Given the description of an element on the screen output the (x, y) to click on. 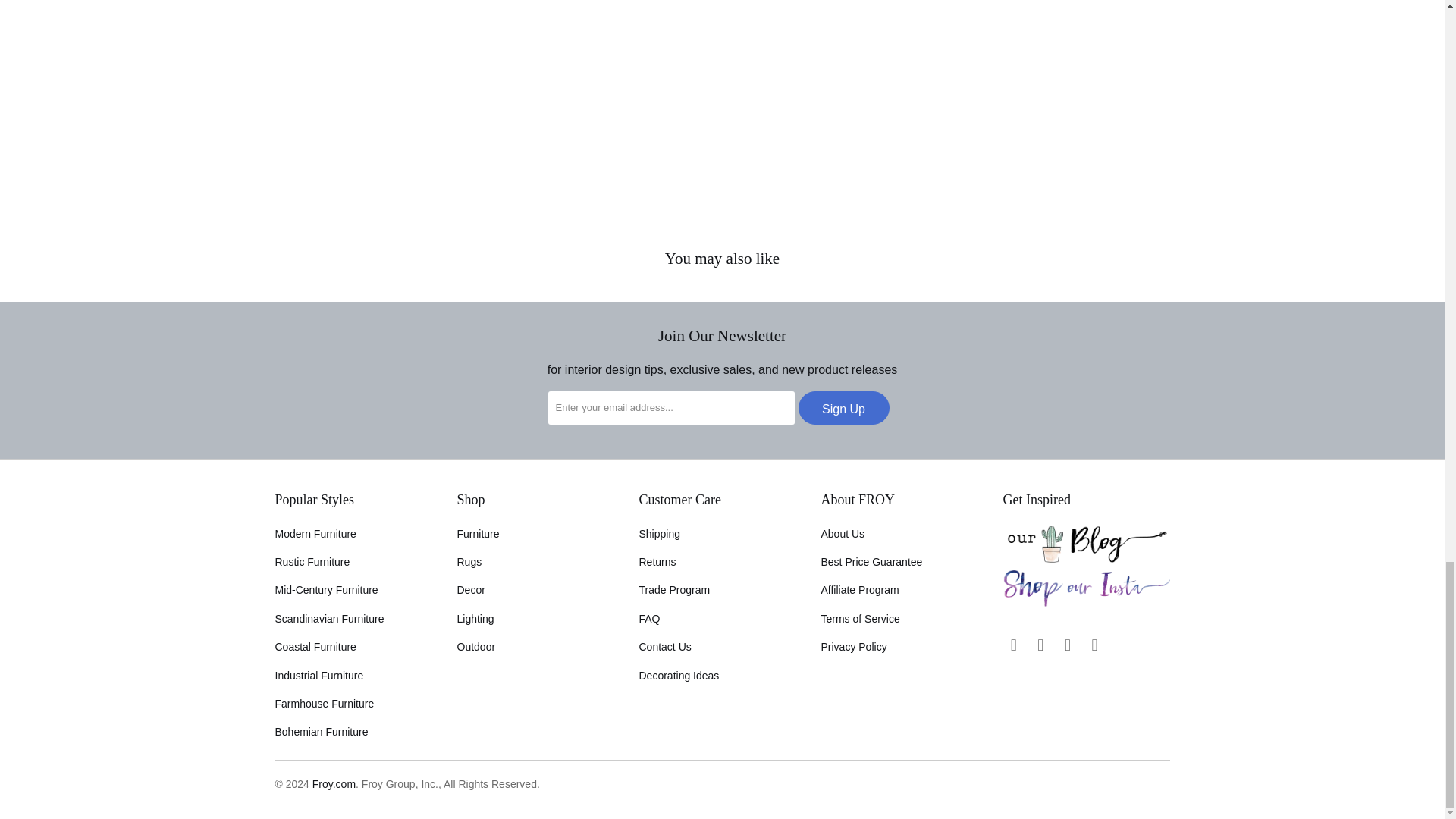
Froy.com on Facebook (1014, 645)
Froy.com on Instagram (1040, 645)
Sign Up (842, 408)
FROY Instagram Shop (1086, 603)
FROY Blog (1086, 558)
